Given the description of an element on the screen output the (x, y) to click on. 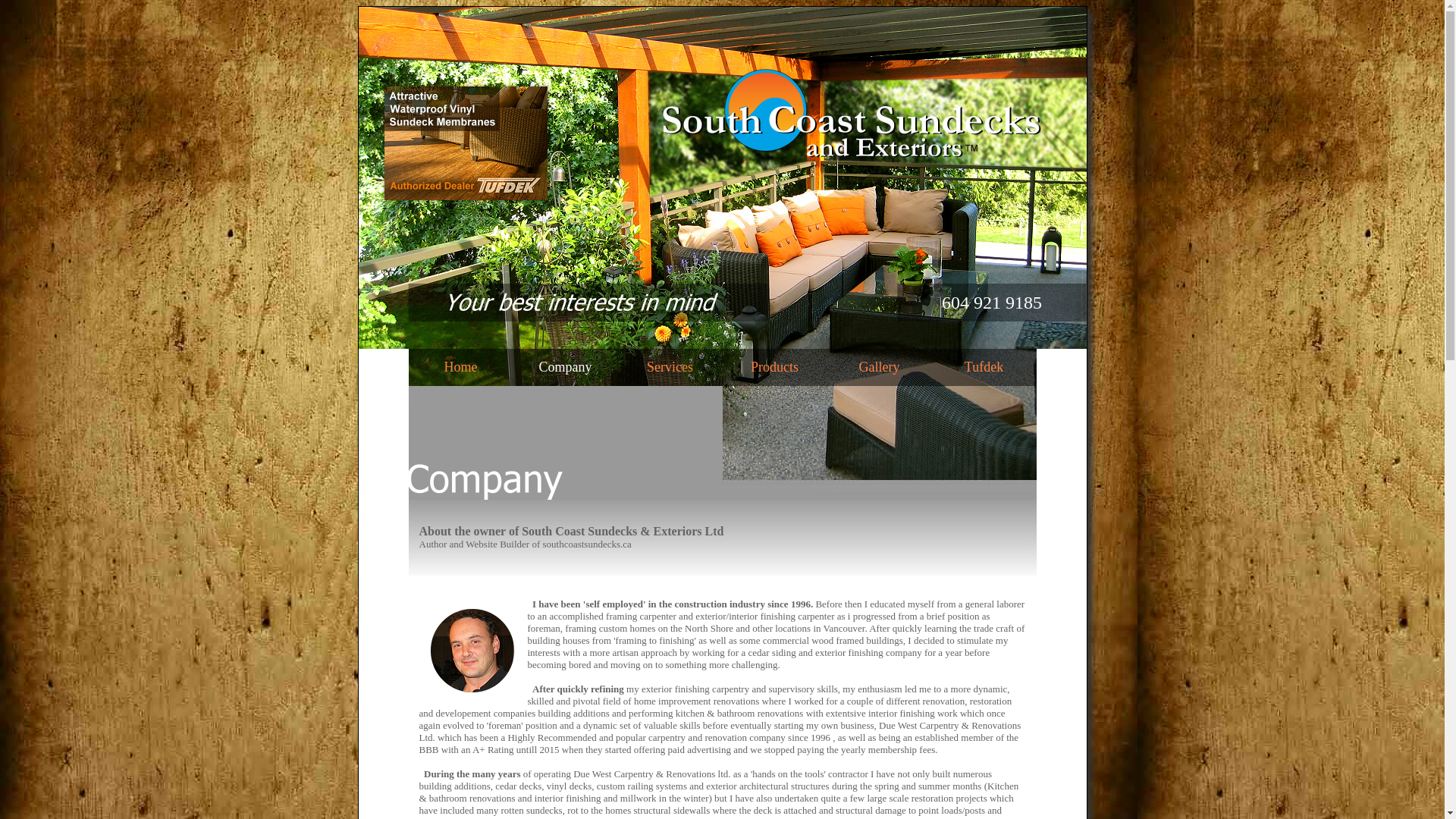
Company (564, 367)
Gallery (879, 367)
Services (669, 367)
Products (774, 367)
Home (460, 367)
Tufdek (983, 367)
